Given the description of an element on the screen output the (x, y) to click on. 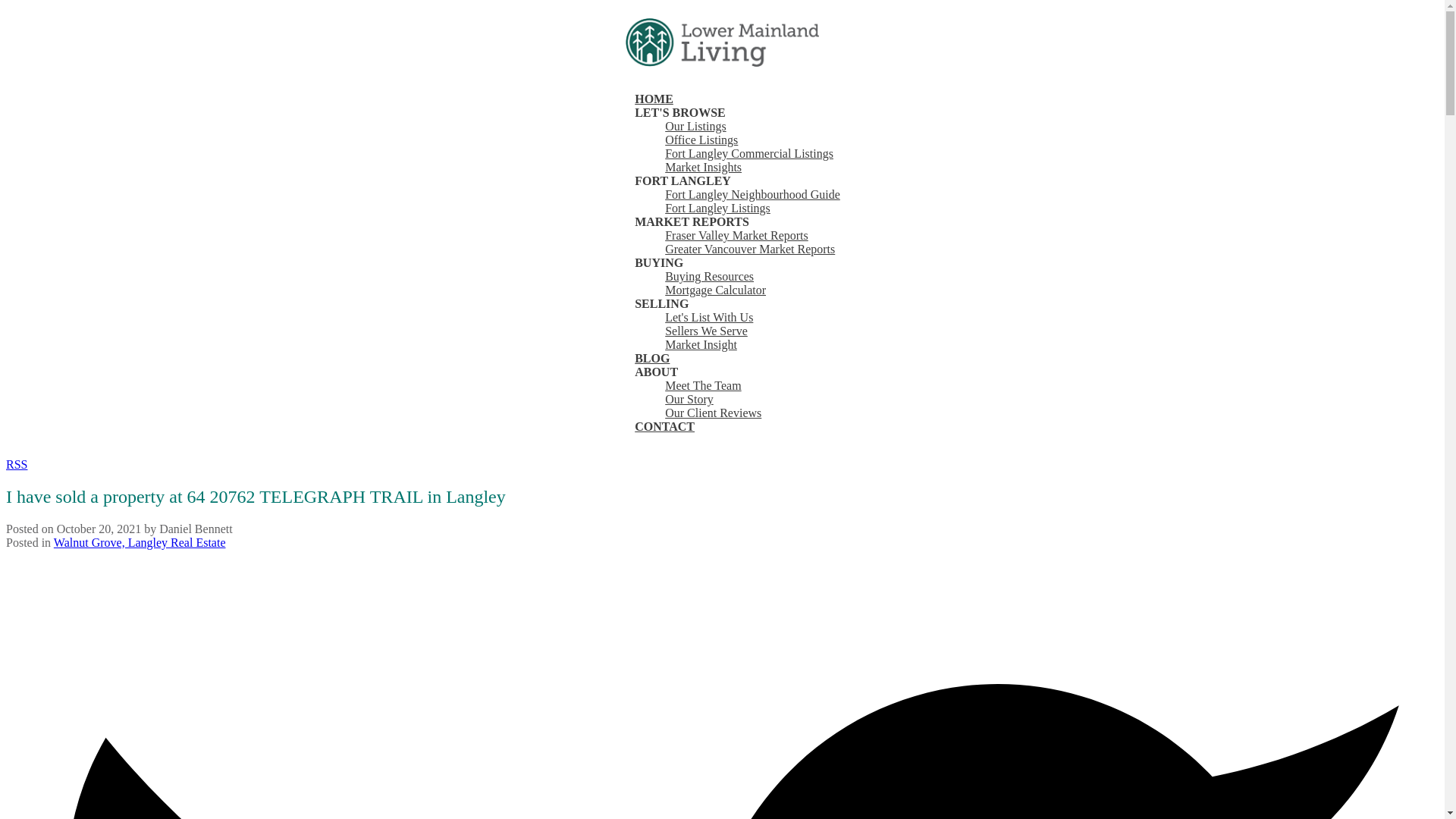
Our Client Reviews (713, 412)
HOME (653, 99)
Our Listings (695, 125)
CONTACT (664, 427)
Sellers We Serve (706, 330)
Buying Resources (709, 276)
Office Listings (701, 139)
Market Insight (700, 344)
Walnut Grove, Langley Real Estate (139, 542)
Our Story (689, 399)
Market Insights (703, 166)
Fort Langley Commercial Listings (748, 153)
RSS (16, 463)
Fort Langley Neighbourhood Guide (752, 194)
BLOG (651, 359)
